Given the description of an element on the screen output the (x, y) to click on. 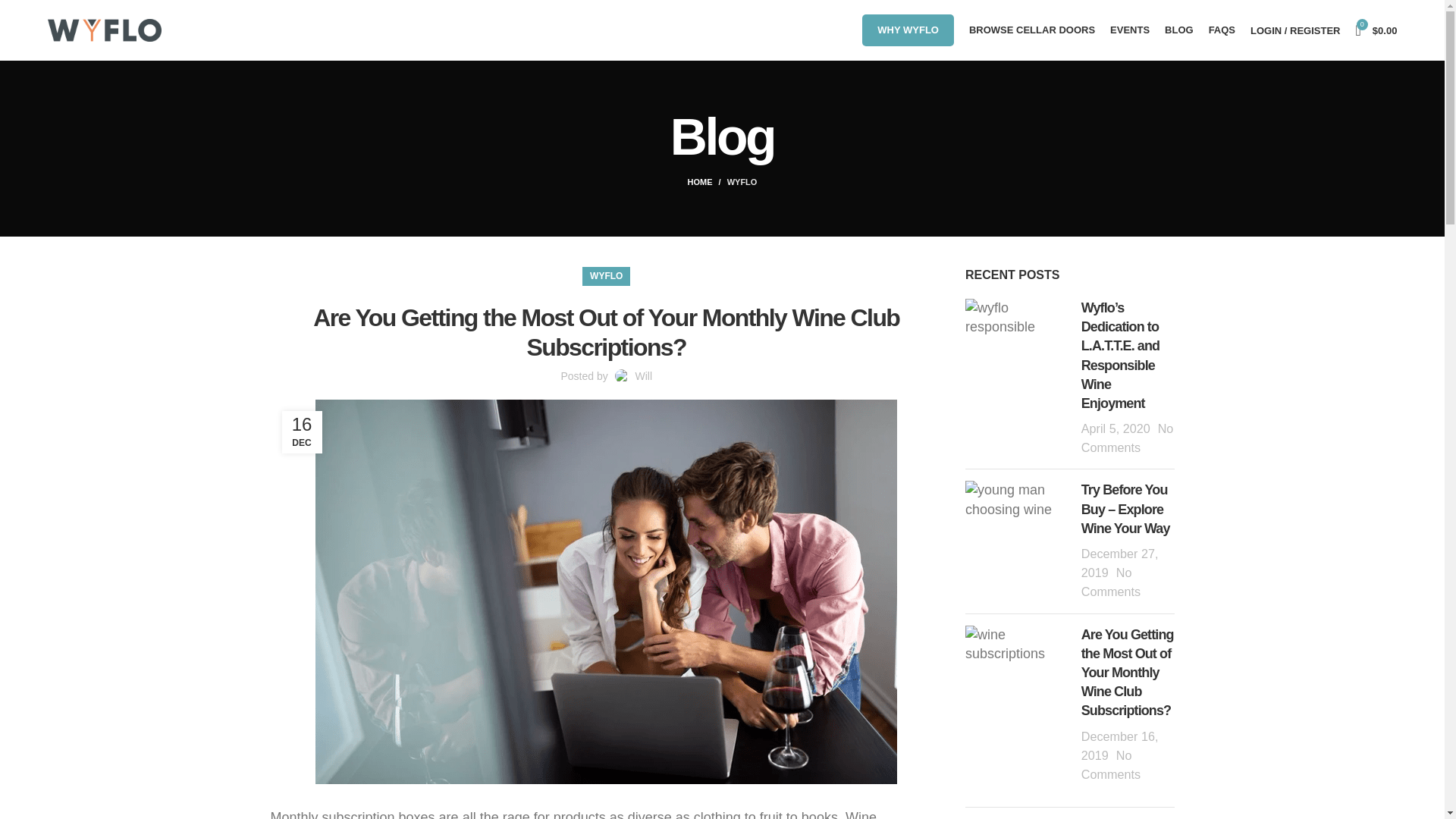
BLOG (1178, 30)
WYFLO (741, 181)
Will (643, 376)
EVENTS (1129, 30)
WYFLO (606, 275)
My account (1295, 30)
HOME (706, 182)
Shopping cart (1376, 30)
WHY WYFLO (907, 29)
